Given the description of an element on the screen output the (x, y) to click on. 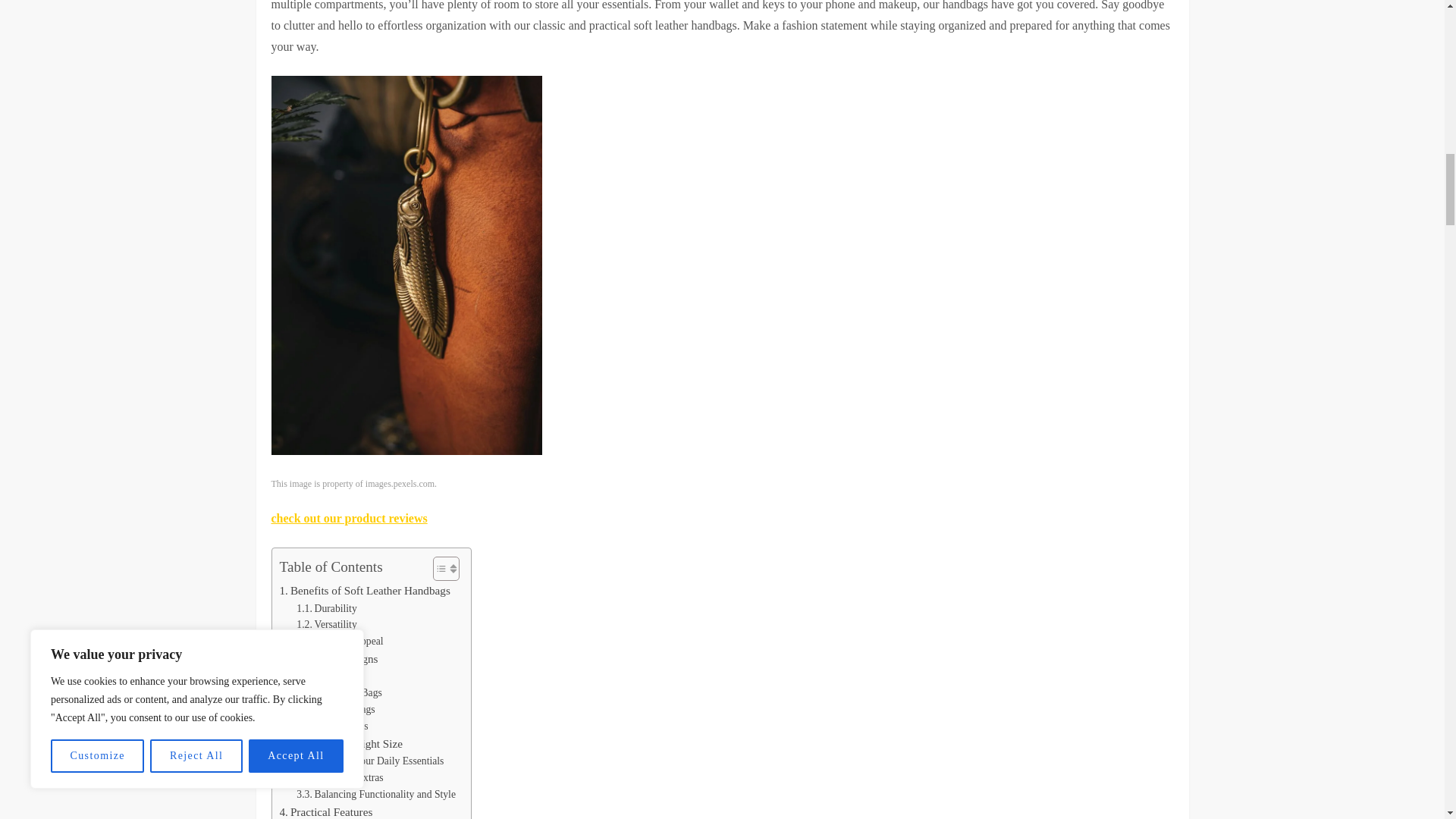
Find your new check out our product  s on this page. (349, 517)
Choosing the Right Size (341, 743)
Durability (326, 608)
Durability (326, 608)
Balancing Functionality and Style (376, 794)
Tote Bags (326, 677)
check out our product reviews (349, 517)
Styles and Designs (328, 659)
Timeless Appeal (339, 641)
Versatility (326, 624)
Room for Extras (339, 777)
Crossbody Bags (339, 692)
Timeless Appeal (339, 641)
Practical Features (325, 811)
Satchel Bags (332, 726)
